Given the description of an element on the screen output the (x, y) to click on. 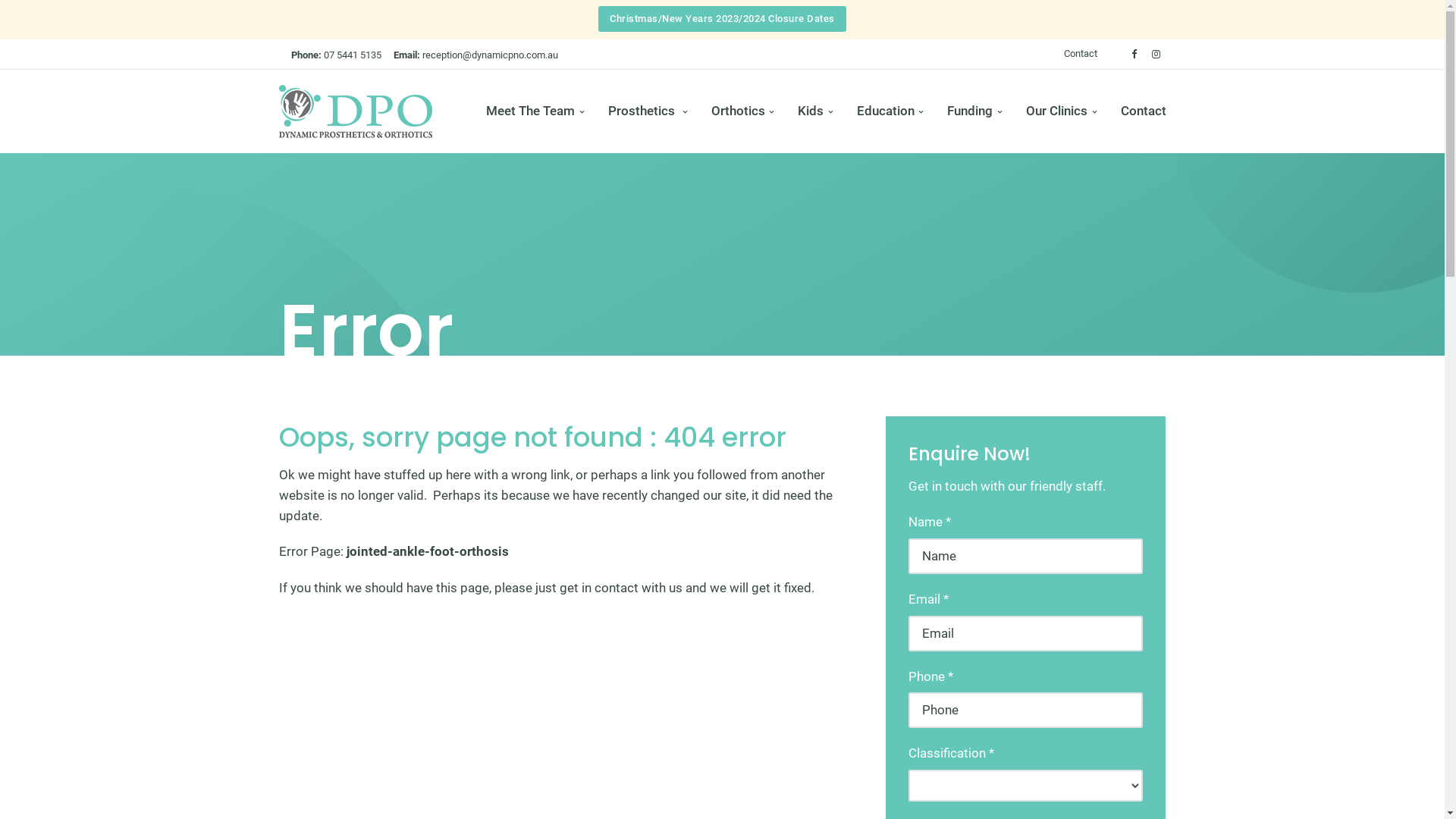
Contact Element type: text (1137, 110)
Education Element type: text (889, 111)
Contact Element type: text (1079, 54)
Our Clinics Element type: text (1060, 111)
Kids Element type: text (814, 111)
Prosthetics Element type: text (647, 111)
Phone: 07 5441 5135 Element type: text (336, 54)
Meet The Team Element type: text (534, 111)
Email: reception@dynamicpno.com.au Element type: text (474, 54)
Christmas/New Years 2023/2024 Closure Dates Element type: text (721, 18)
Orthotics Element type: text (742, 111)
Funding Element type: text (974, 111)
